Given the description of an element on the screen output the (x, y) to click on. 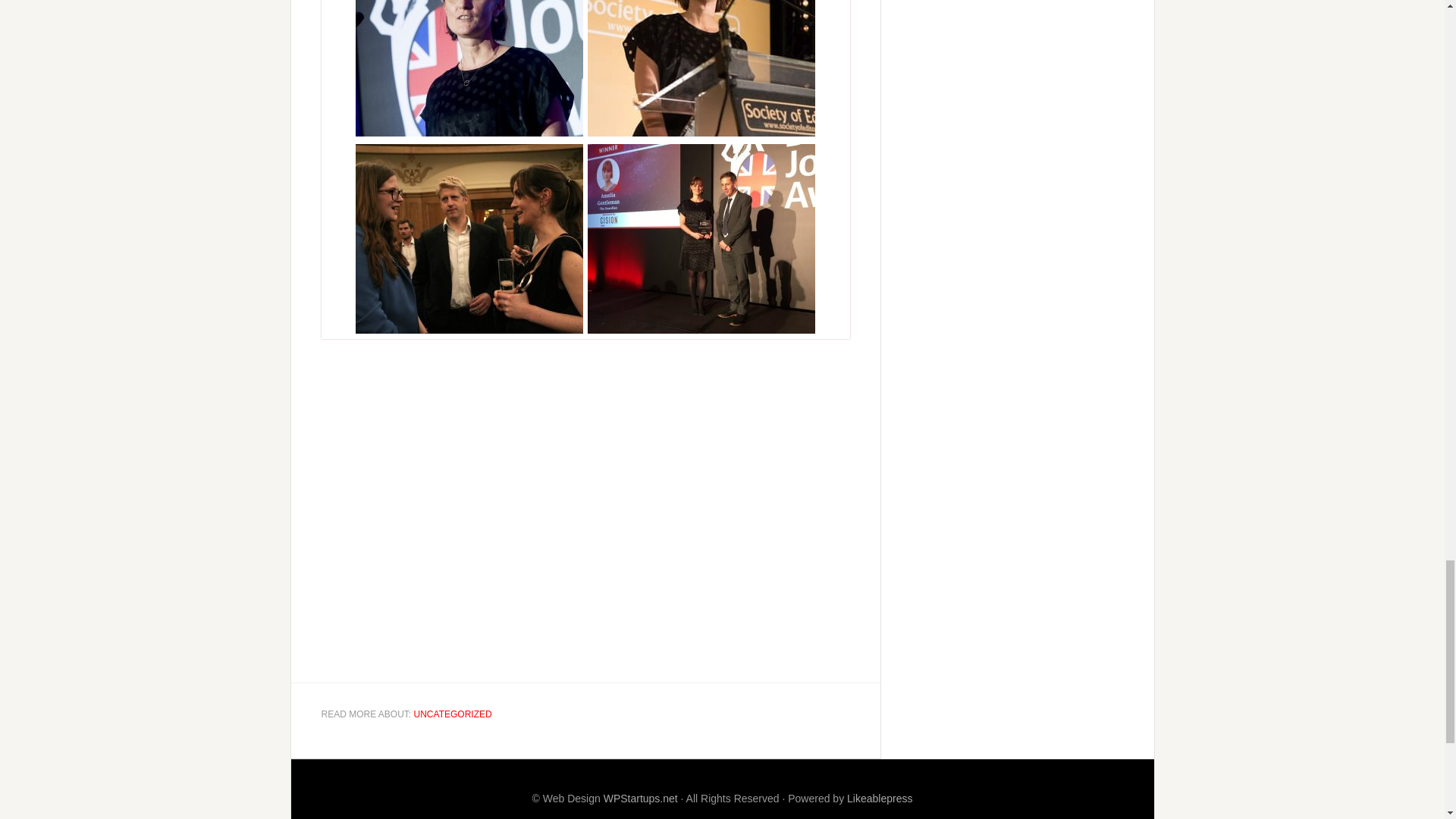
UNCATEGORIZED (452, 714)
WPStartups.net (641, 798)
Likeablepress (879, 798)
